Given the description of an element on the screen output the (x, y) to click on. 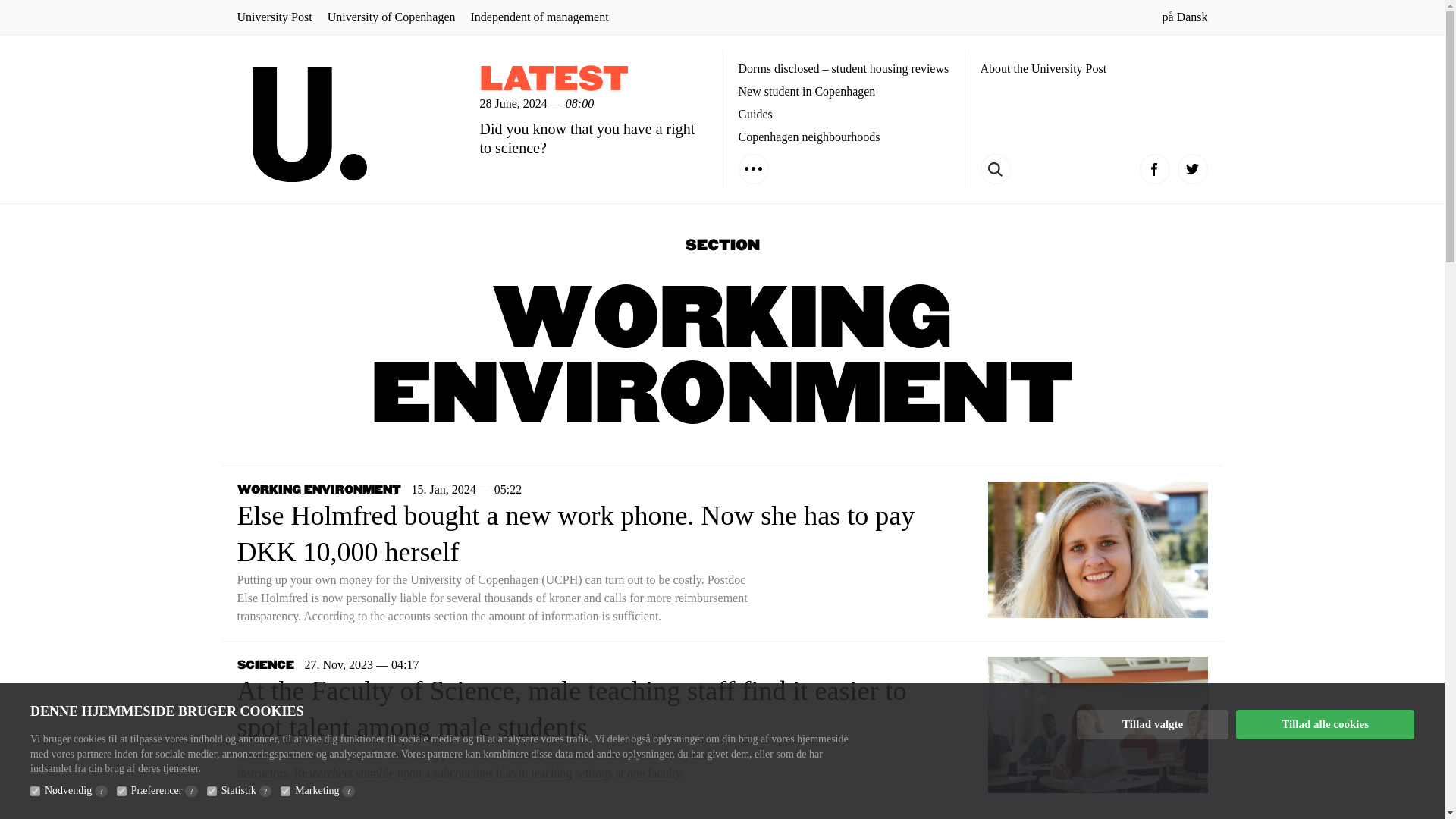
on (285, 791)
Tillad alle cookies (1324, 724)
LATEST (553, 79)
on (121, 791)
on (211, 791)
Tillad valgte (1152, 724)
on (35, 791)
Did you know that you have a right to science? (586, 138)
University Post (273, 17)
